Given the description of an element on the screen output the (x, y) to click on. 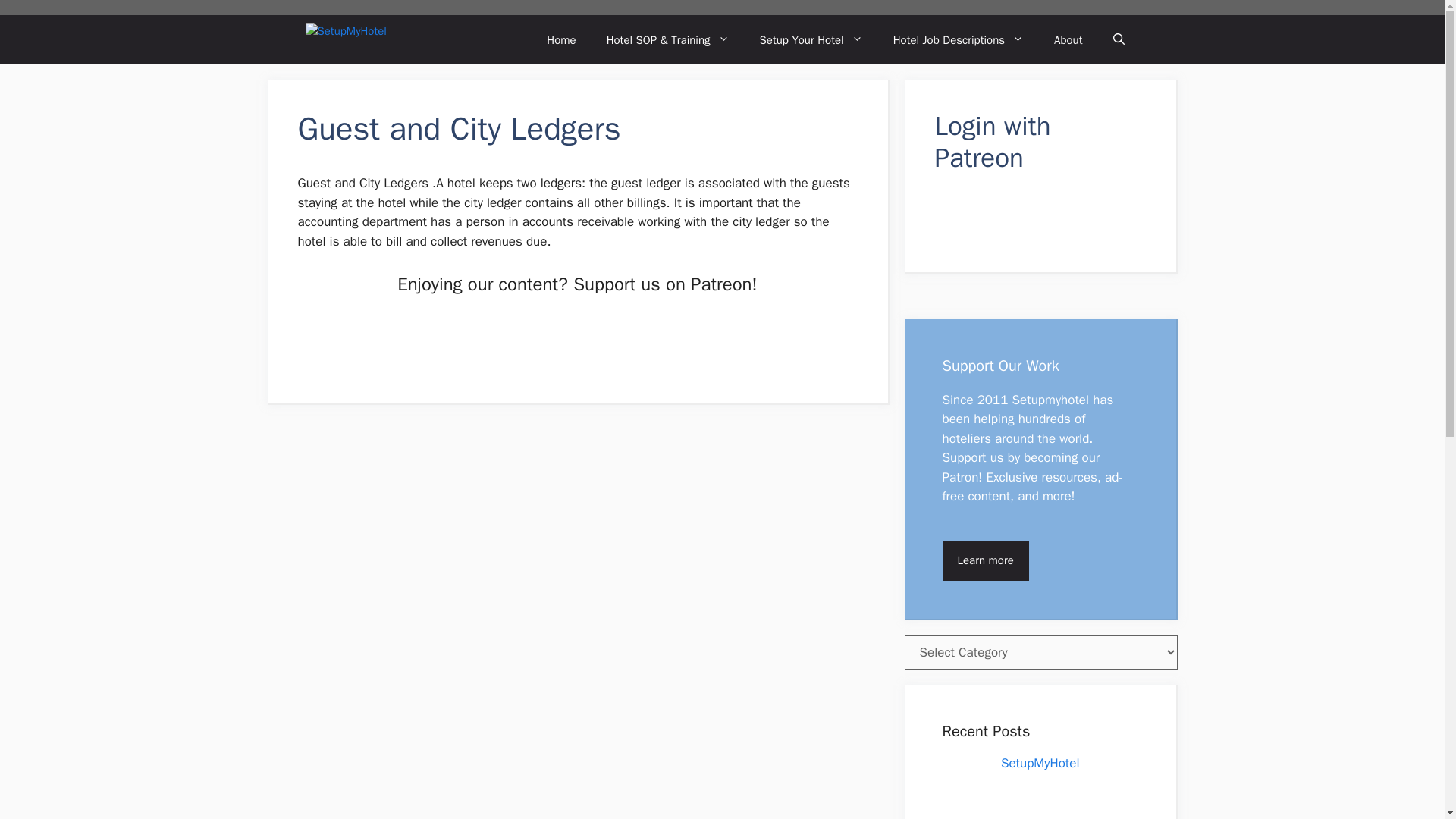
Setup Your Hotel (810, 39)
Home (561, 39)
Hotel Job Descriptions (958, 39)
SetupMyHotel (368, 39)
